Given the description of an element on the screen output the (x, y) to click on. 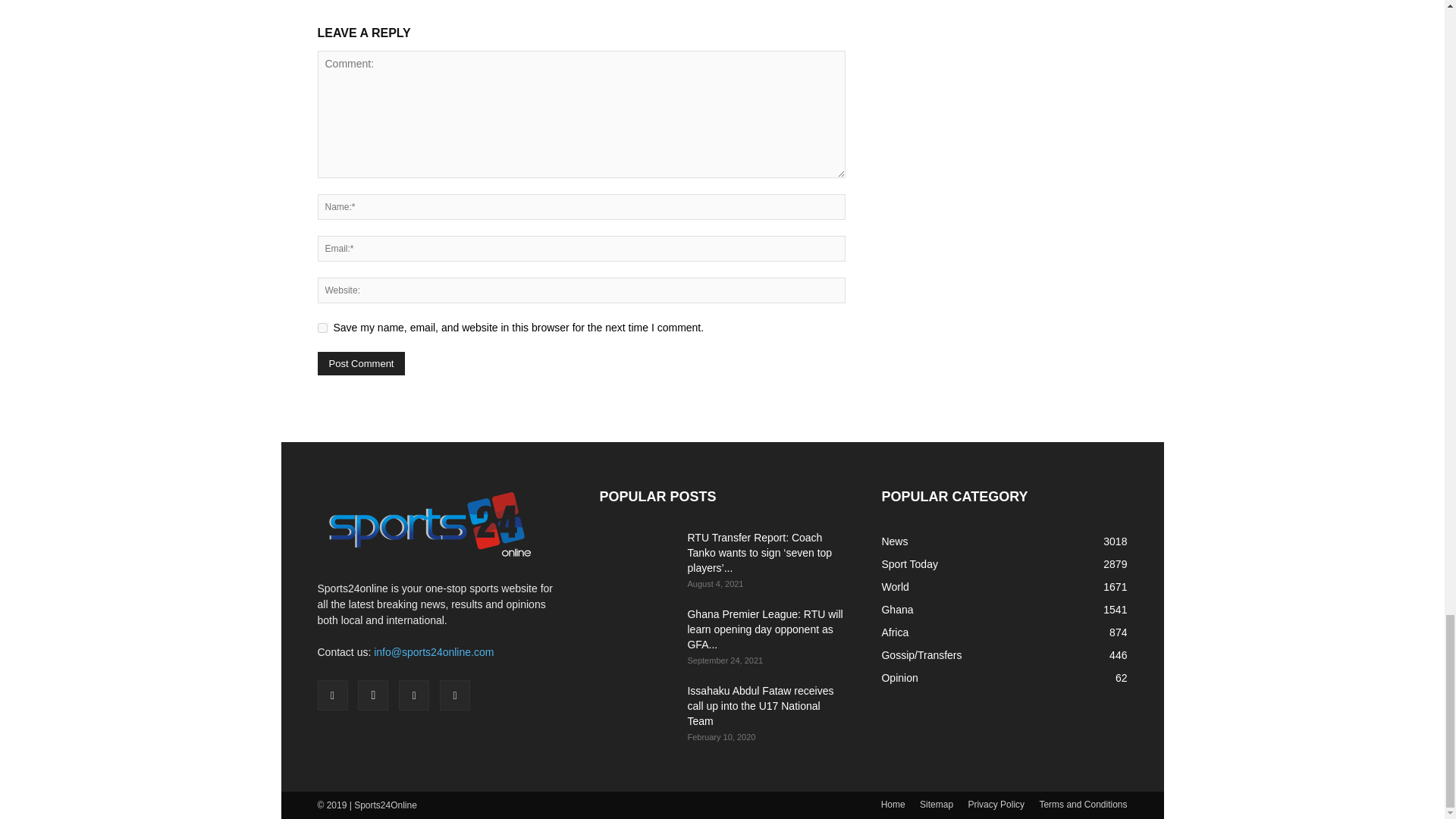
yes (321, 327)
Post Comment (360, 363)
